Given the description of an element on the screen output the (x, y) to click on. 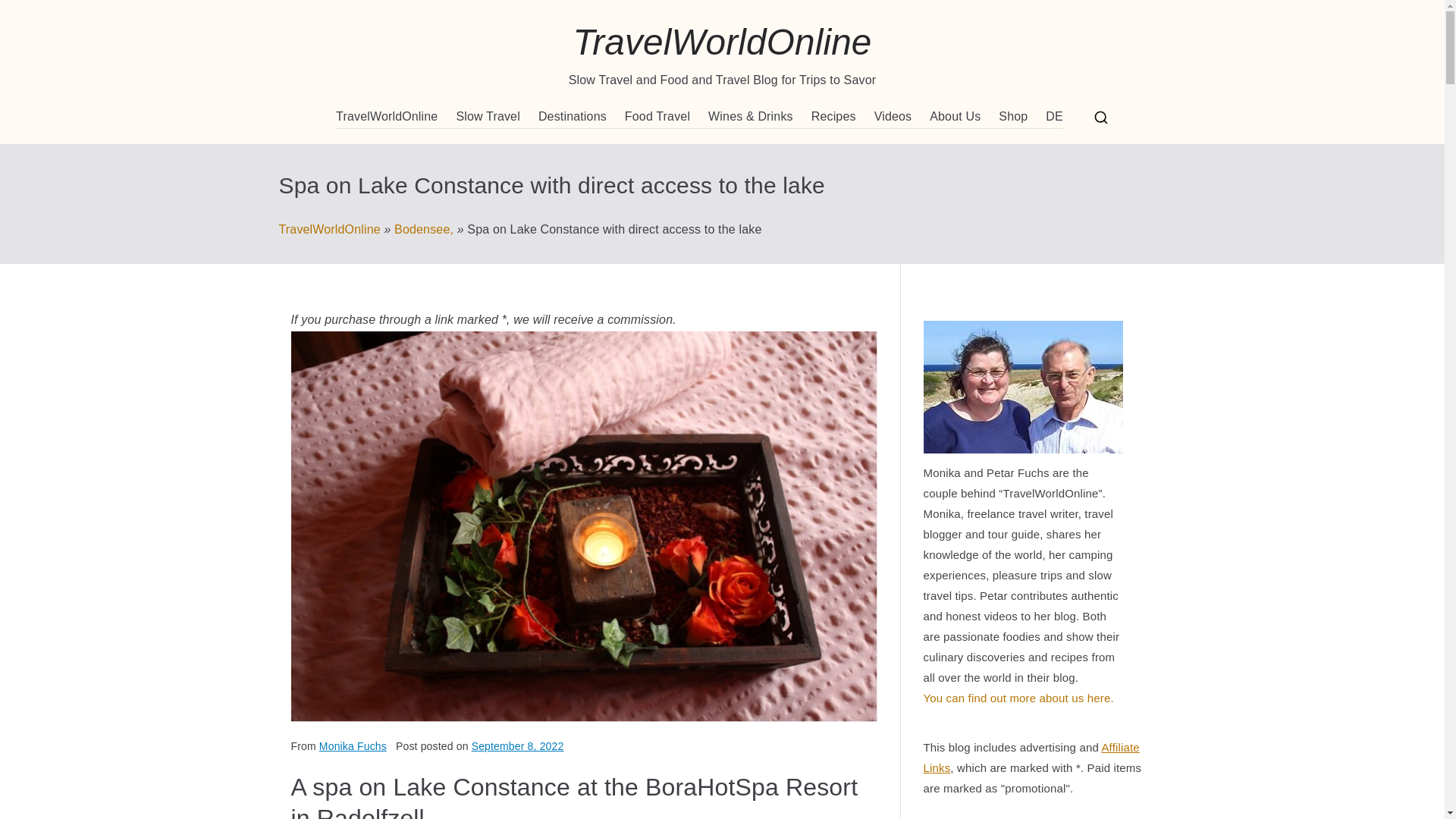
Destinations (572, 116)
Bodensee, (423, 228)
TravelWorldOnline (721, 42)
About Us (954, 116)
September 8, 2022 (517, 746)
Food Travel (657, 116)
TravelWorldOnline (329, 228)
Search (26, 12)
TravelWorldOnline (387, 116)
Recipes (833, 116)
Slow Travel (487, 116)
Videos (893, 116)
Shop (1012, 116)
Monika Fuchs (352, 746)
